Given the description of an element on the screen output the (x, y) to click on. 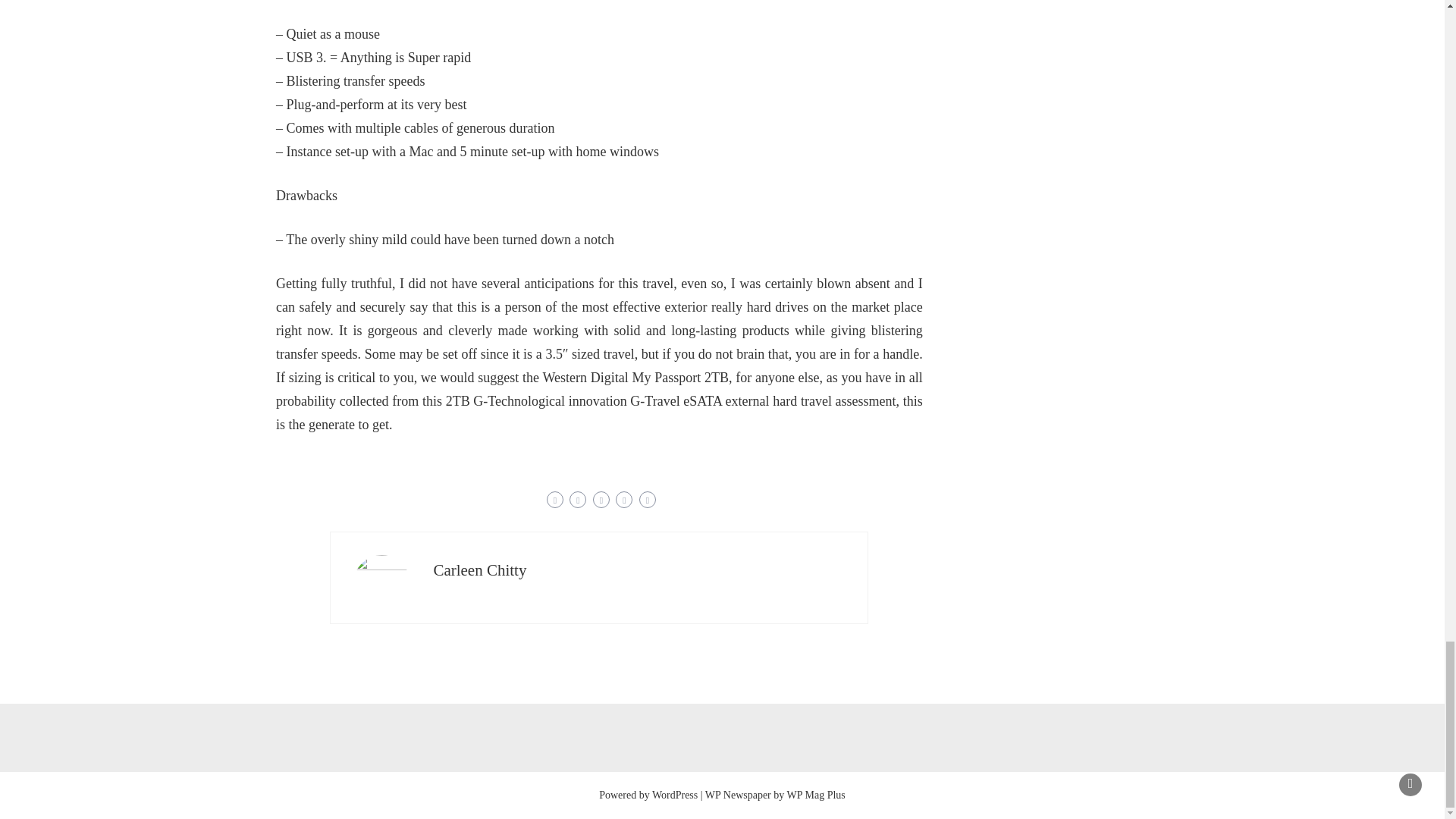
Carleen Chitty (478, 570)
